Given the description of an element on the screen output the (x, y) to click on. 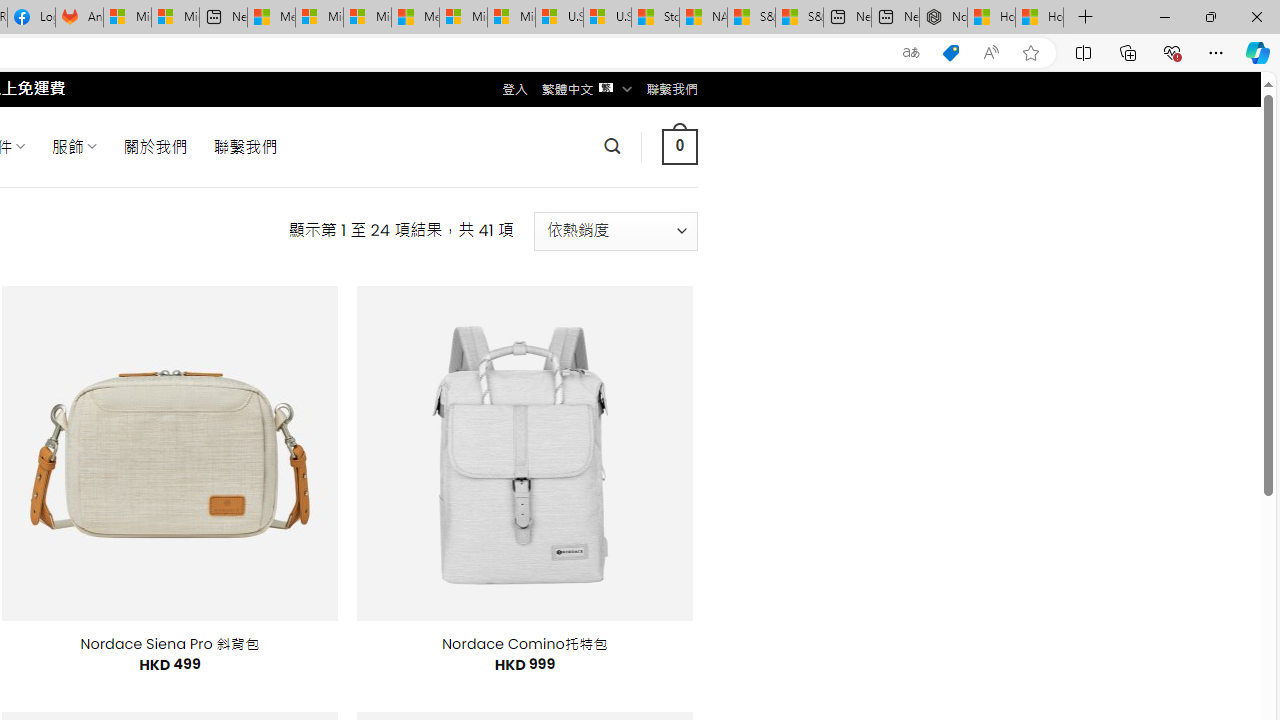
  0   (679, 146)
S&P 500, Nasdaq end lower, weighed by Nvidia dip | Watch (799, 17)
